Given the description of an element on the screen output the (x, y) to click on. 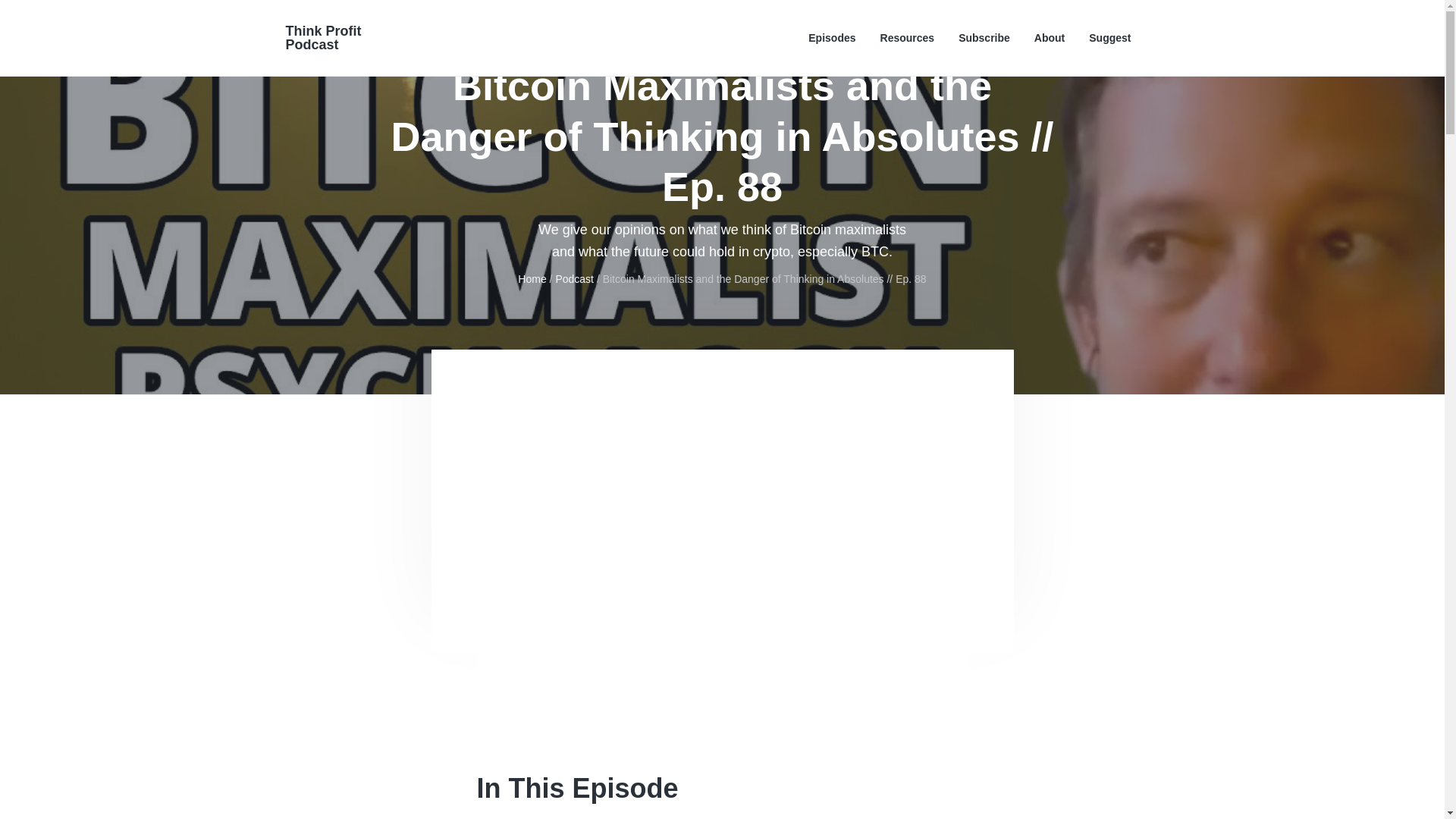
Suggest (1110, 37)
Resources (907, 37)
Podcast (574, 278)
Episodes (832, 37)
Home (532, 278)
About (1048, 37)
Think Profit Podcast (323, 37)
Search (60, 18)
